Given the description of an element on the screen output the (x, y) to click on. 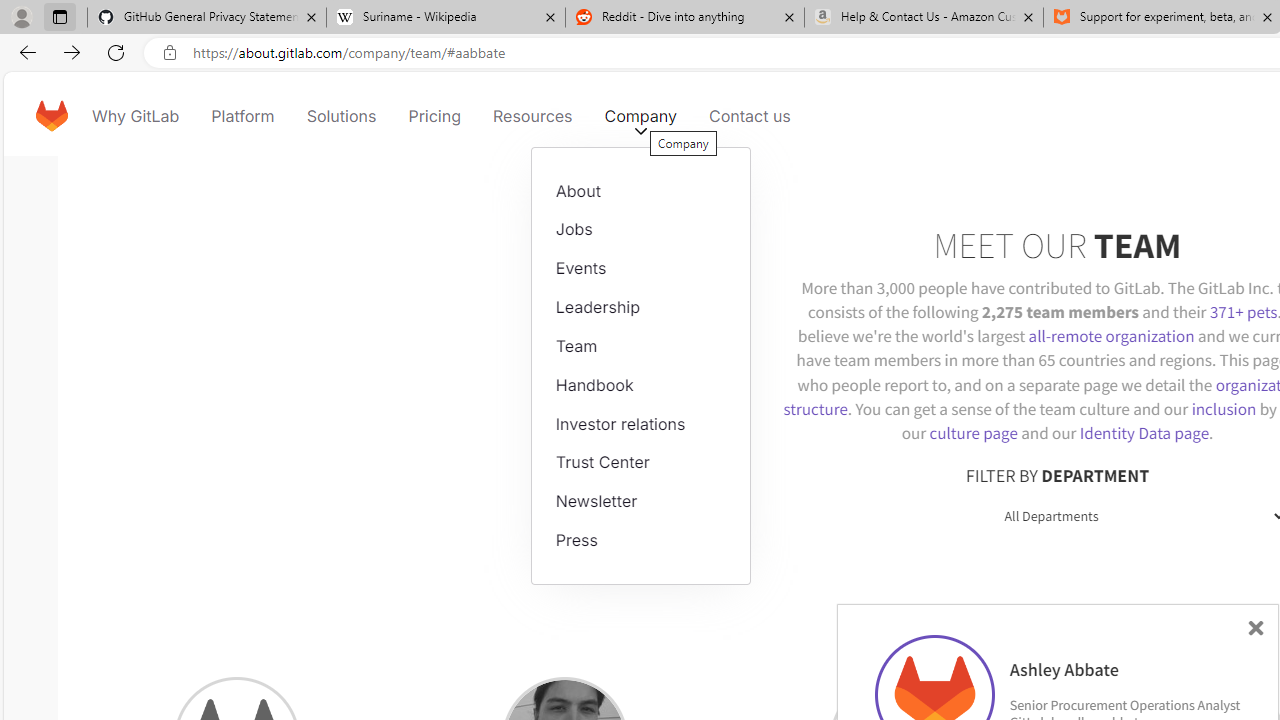
Reddit - Dive into anything (684, 17)
371+ pets (1243, 311)
Pricing (433, 115)
Resources (532, 115)
Contact us (749, 115)
Company (640, 115)
GitHub General Privacy Statement - GitHub Docs (207, 17)
Solutions (341, 115)
culture page (973, 432)
Help & Contact Us - Amazon Customer Service - Sleeping (924, 17)
